Given the description of an element on the screen output the (x, y) to click on. 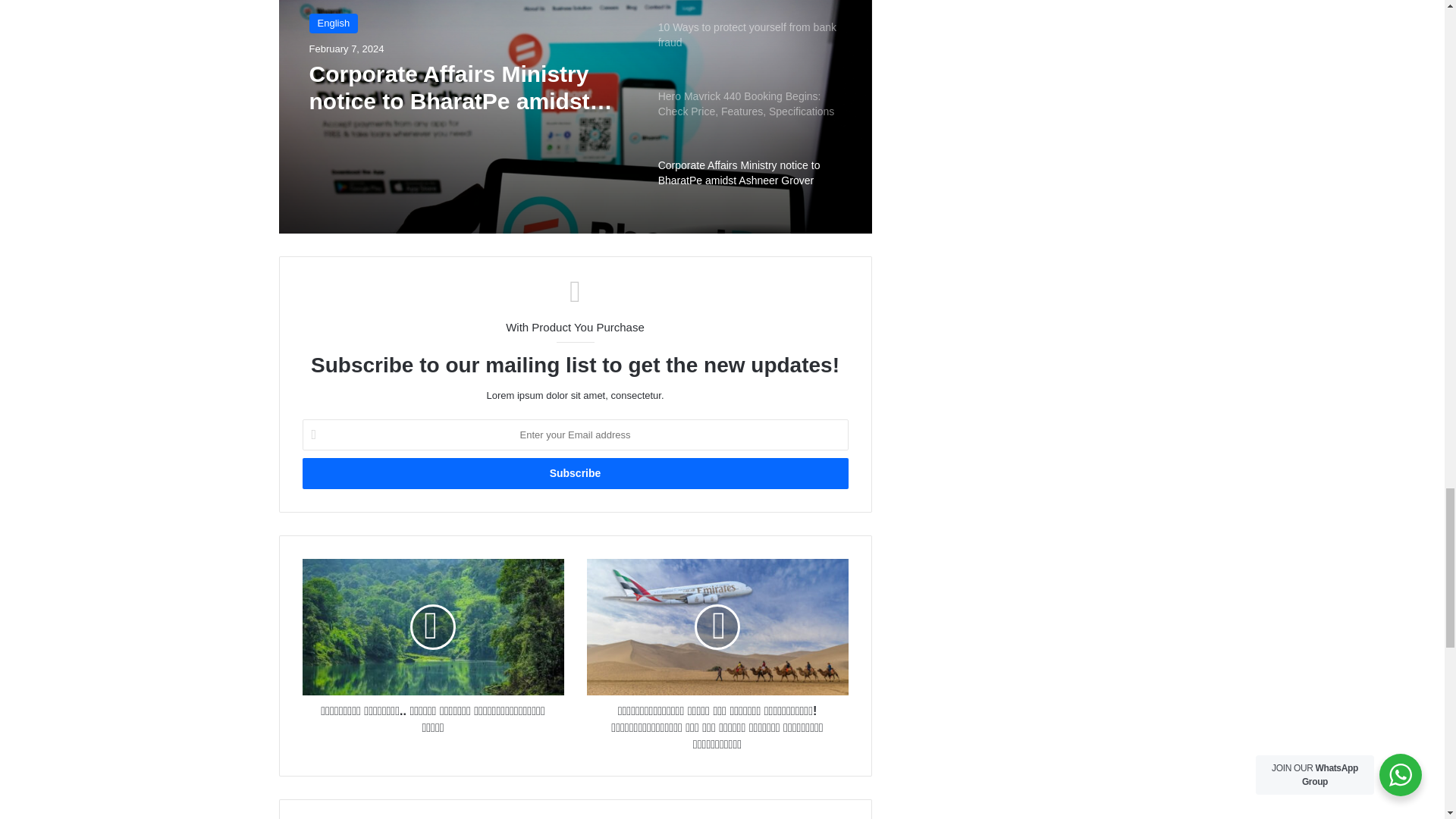
Subscribe (574, 472)
